Given the description of an element on the screen output the (x, y) to click on. 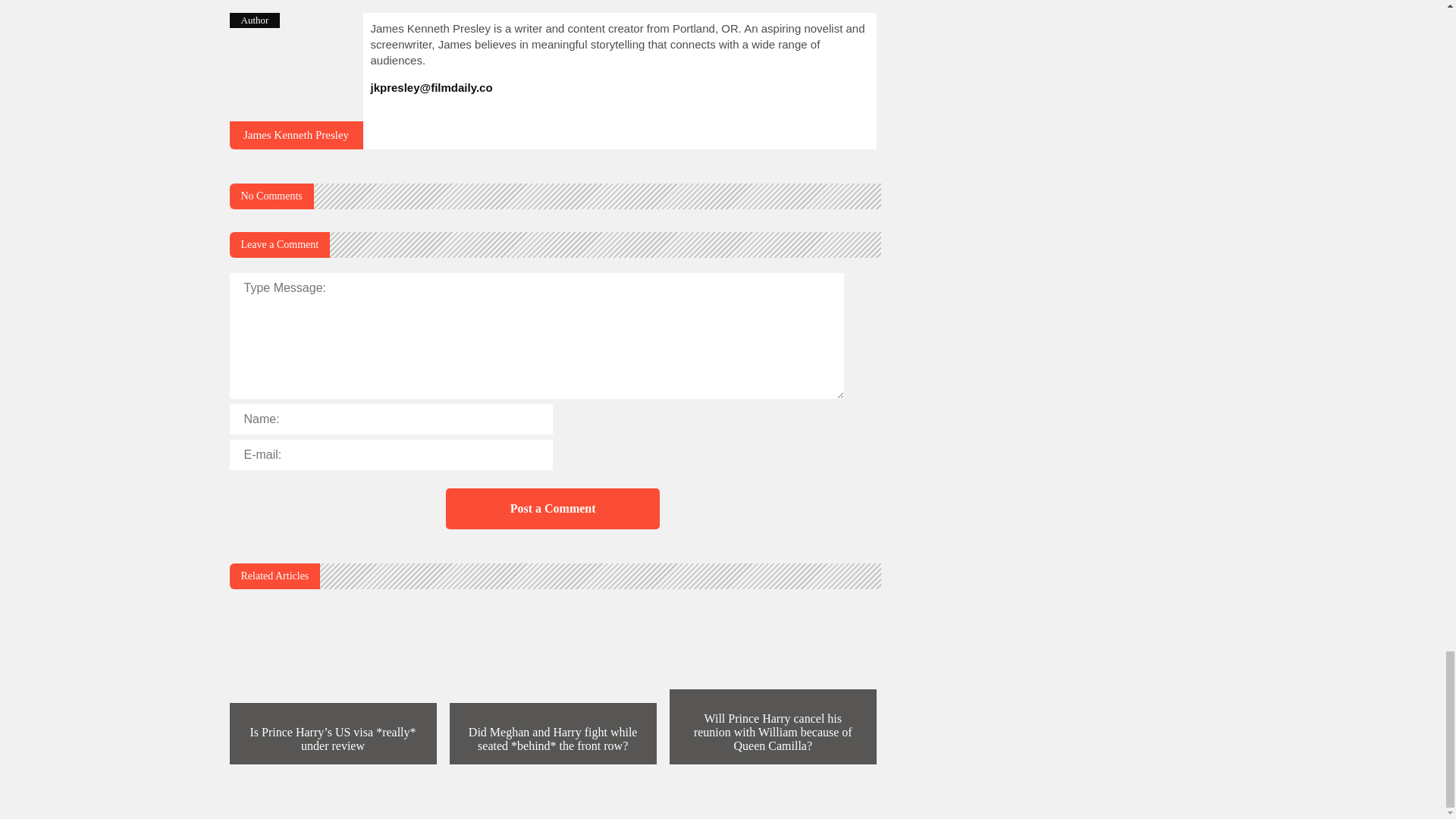
Post a Comment (552, 508)
